Given the description of an element on the screen output the (x, y) to click on. 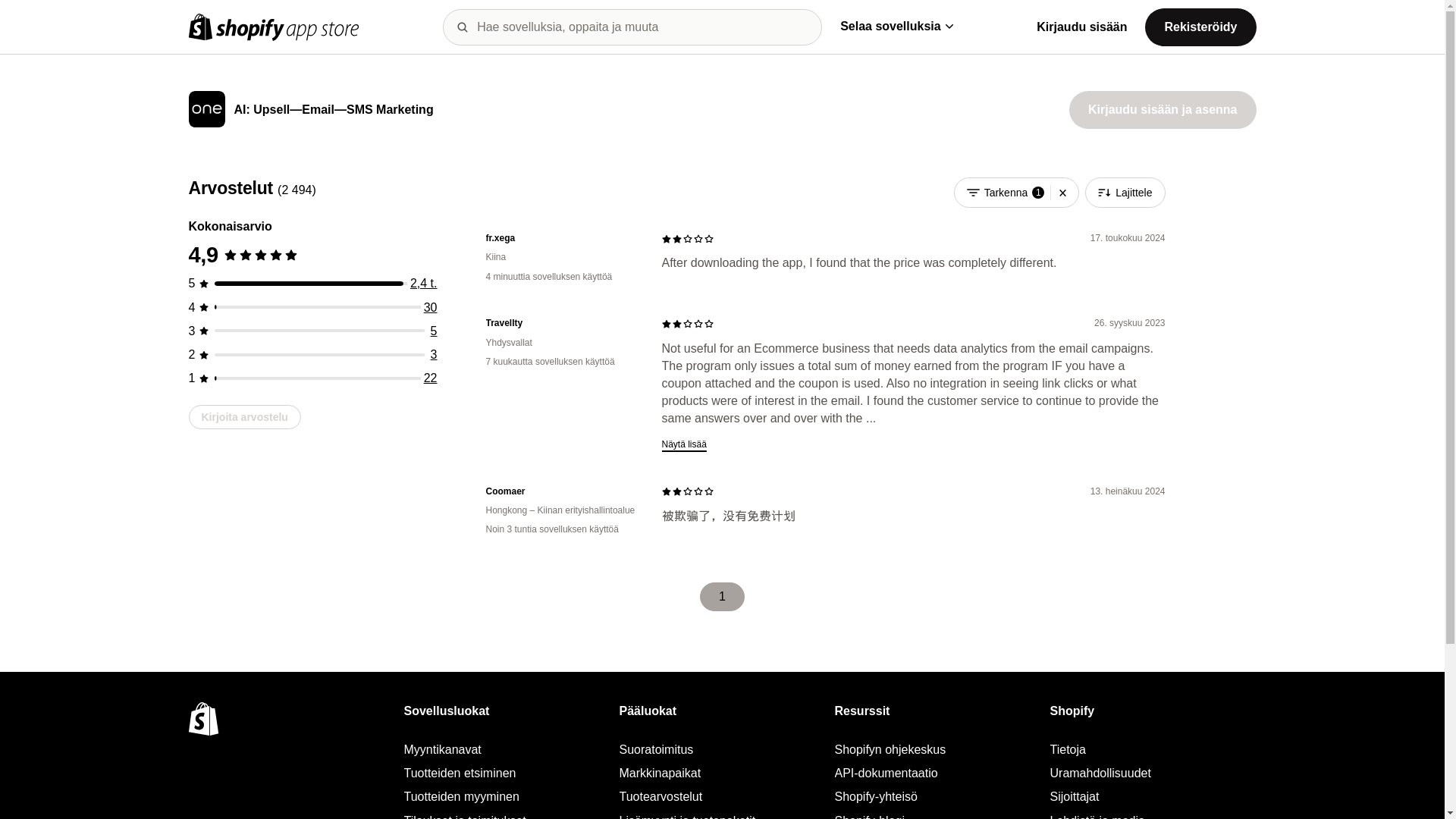
fr.xega (560, 237)
30 (430, 307)
Selaa sovelluksia (896, 26)
2,4 t. (424, 282)
Travellty (560, 323)
22 (430, 377)
Coomaer (560, 491)
